Given the description of an element on the screen output the (x, y) to click on. 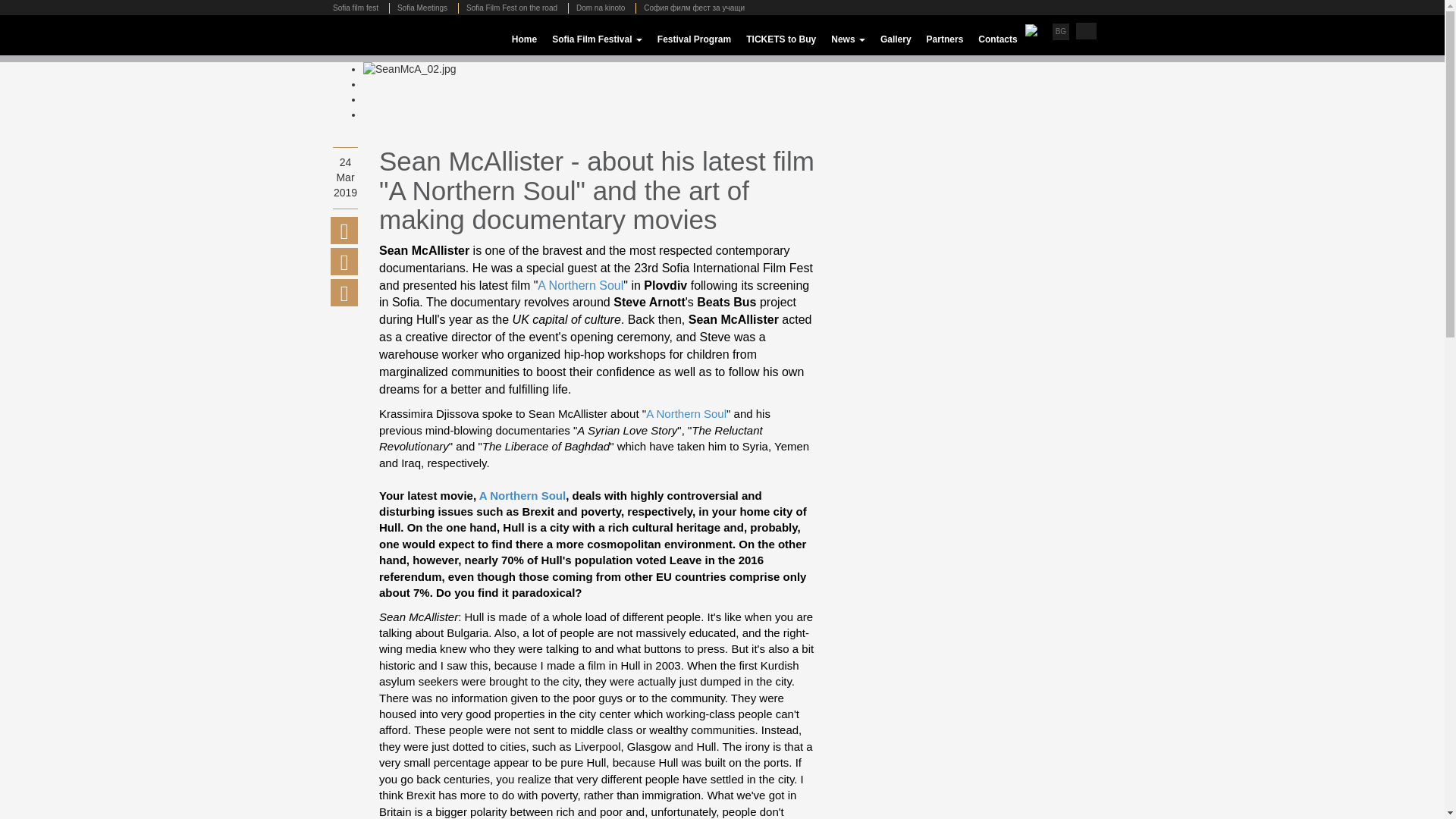
Festival Program (693, 39)
Sofia Film Fest on the road (511, 8)
Partners (944, 39)
BG (1060, 31)
Home (523, 39)
A Northern Soul (580, 285)
Sofia Film Festival (596, 39)
Dom na kinoto (599, 8)
Sofia film fest (359, 8)
News (848, 39)
